Given the description of an element on the screen output the (x, y) to click on. 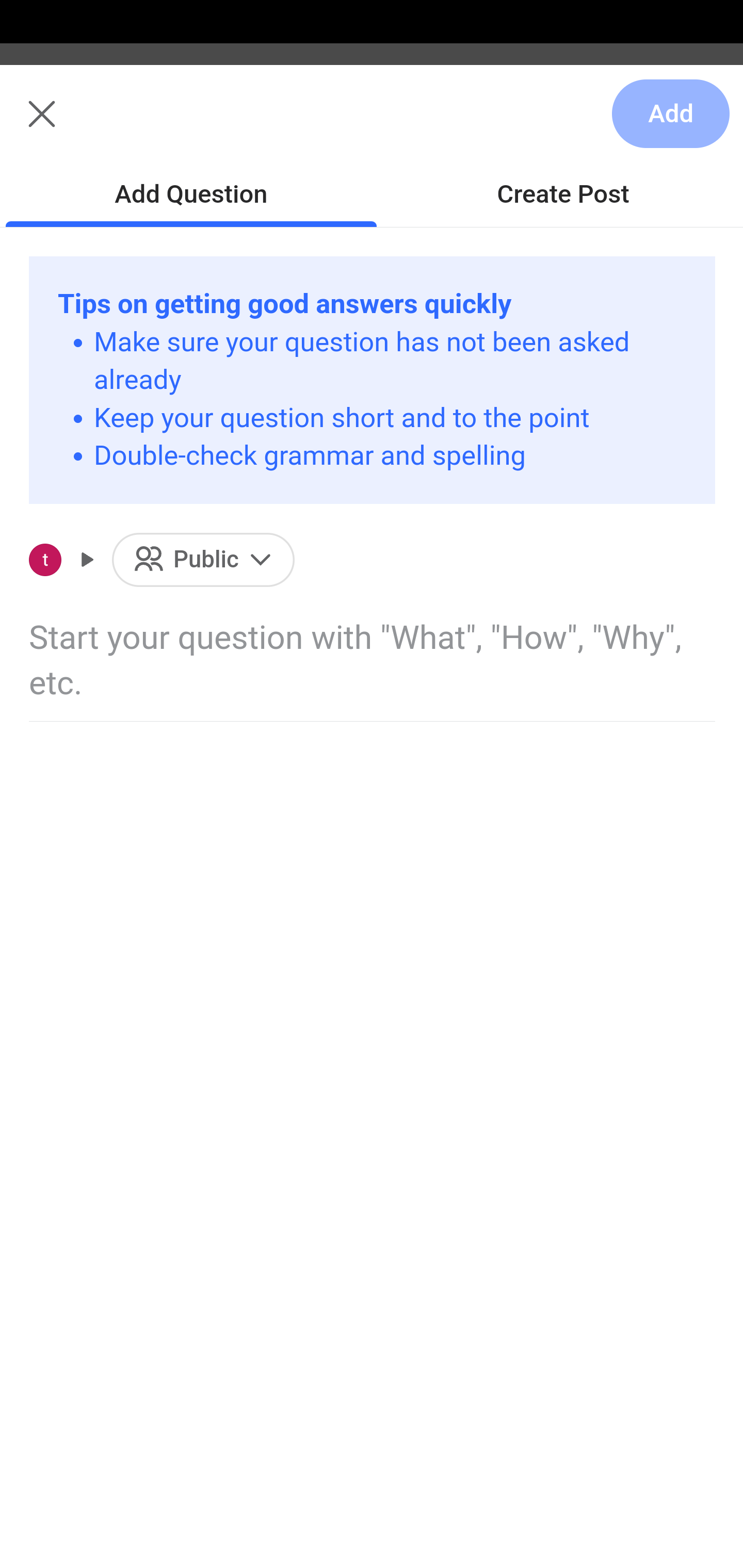
Me Home Search Add (371, 125)
Me (64, 125)
